Given the description of an element on the screen output the (x, y) to click on. 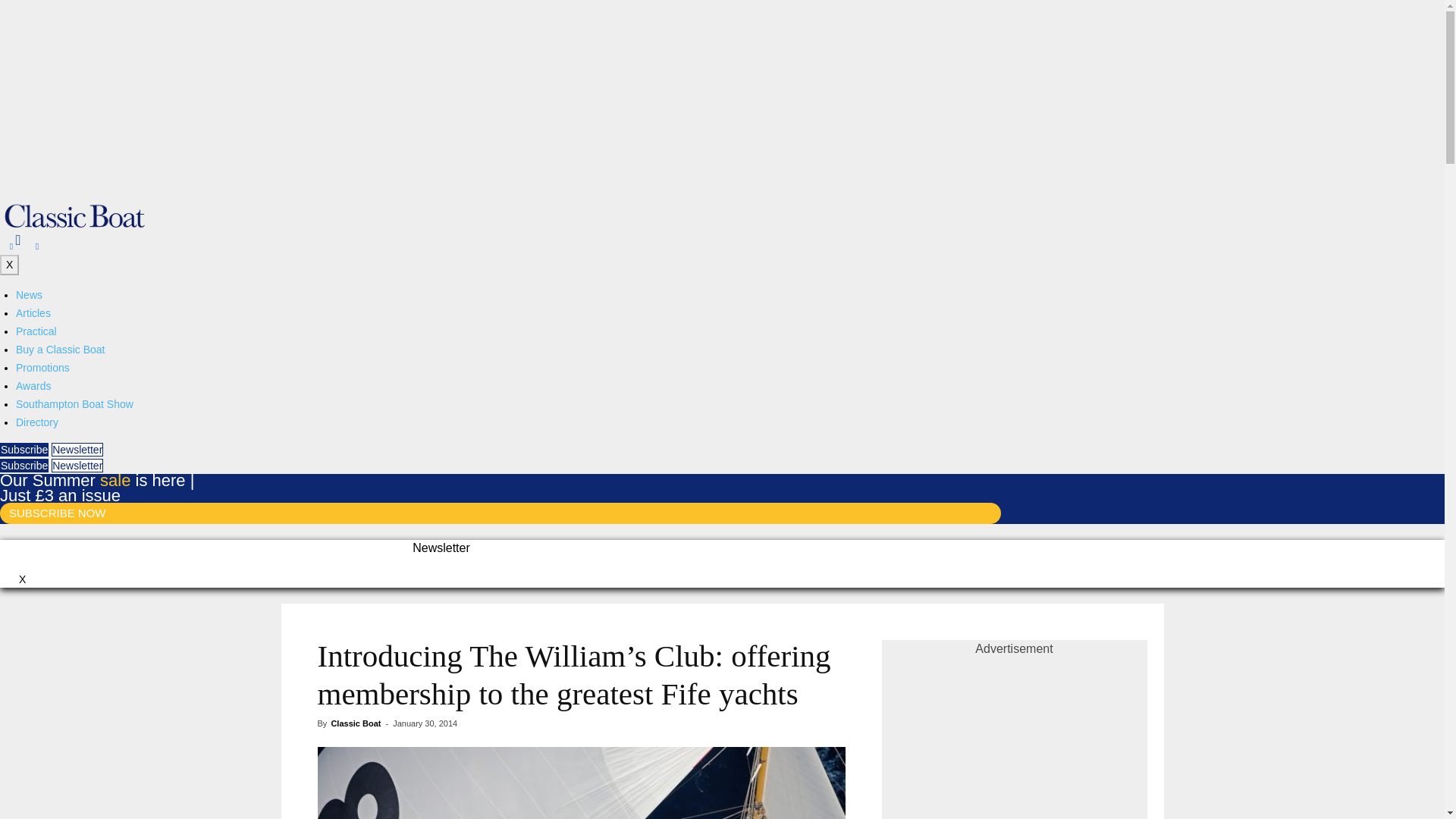
Newsletter (76, 449)
Buy a Classic Boat (60, 349)
Articles (33, 313)
Southampton Boat Show (74, 404)
Practical (36, 331)
Awards (33, 386)
Twitter (37, 245)
News (29, 295)
Promotions (42, 367)
moonbeam-iv (580, 782)
Subscribe (24, 449)
Facebook (11, 245)
Directory (37, 422)
X (9, 264)
